Given the description of an element on the screen output the (x, y) to click on. 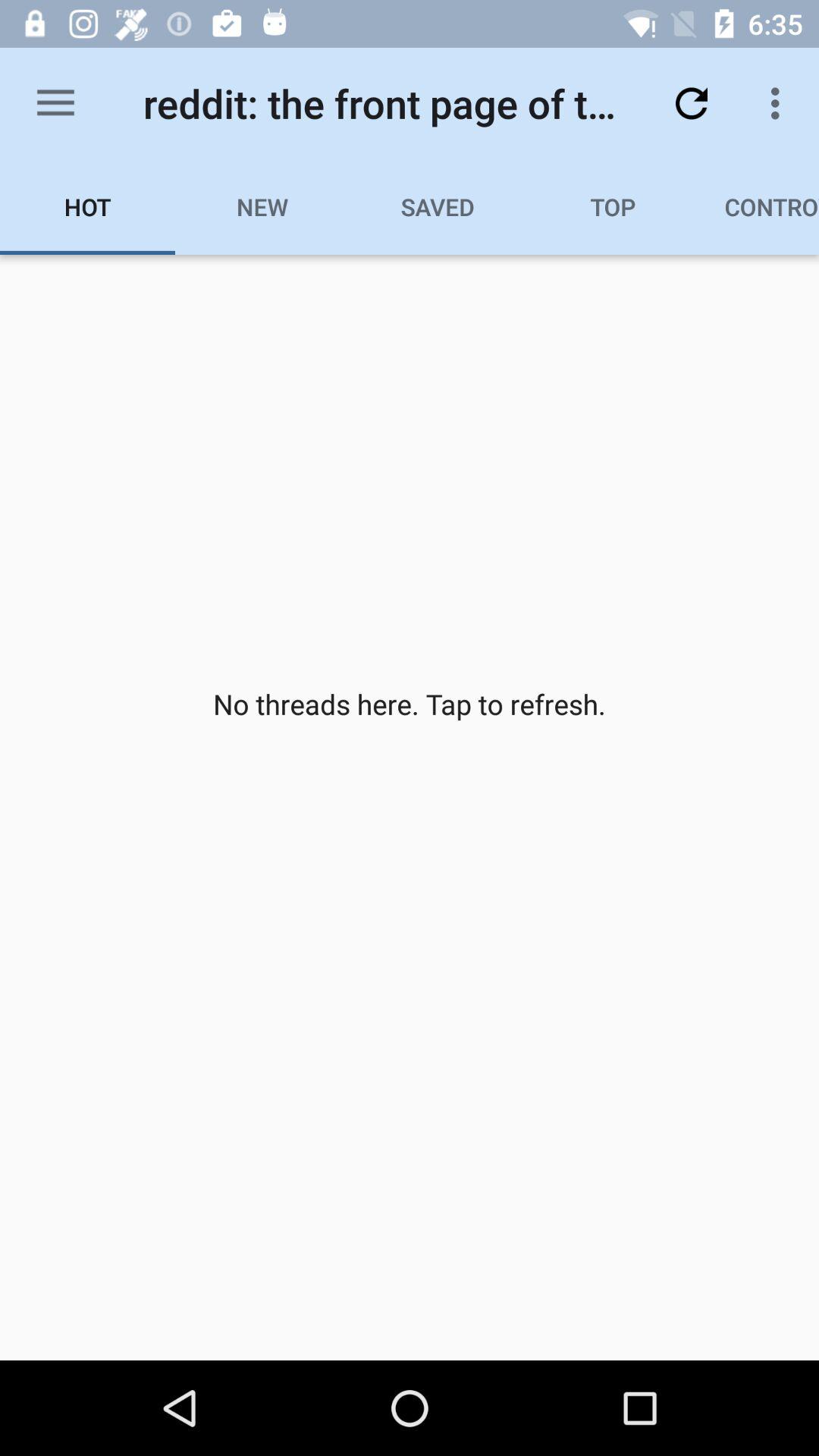
turn off the item above the hot (55, 103)
